Given the description of an element on the screen output the (x, y) to click on. 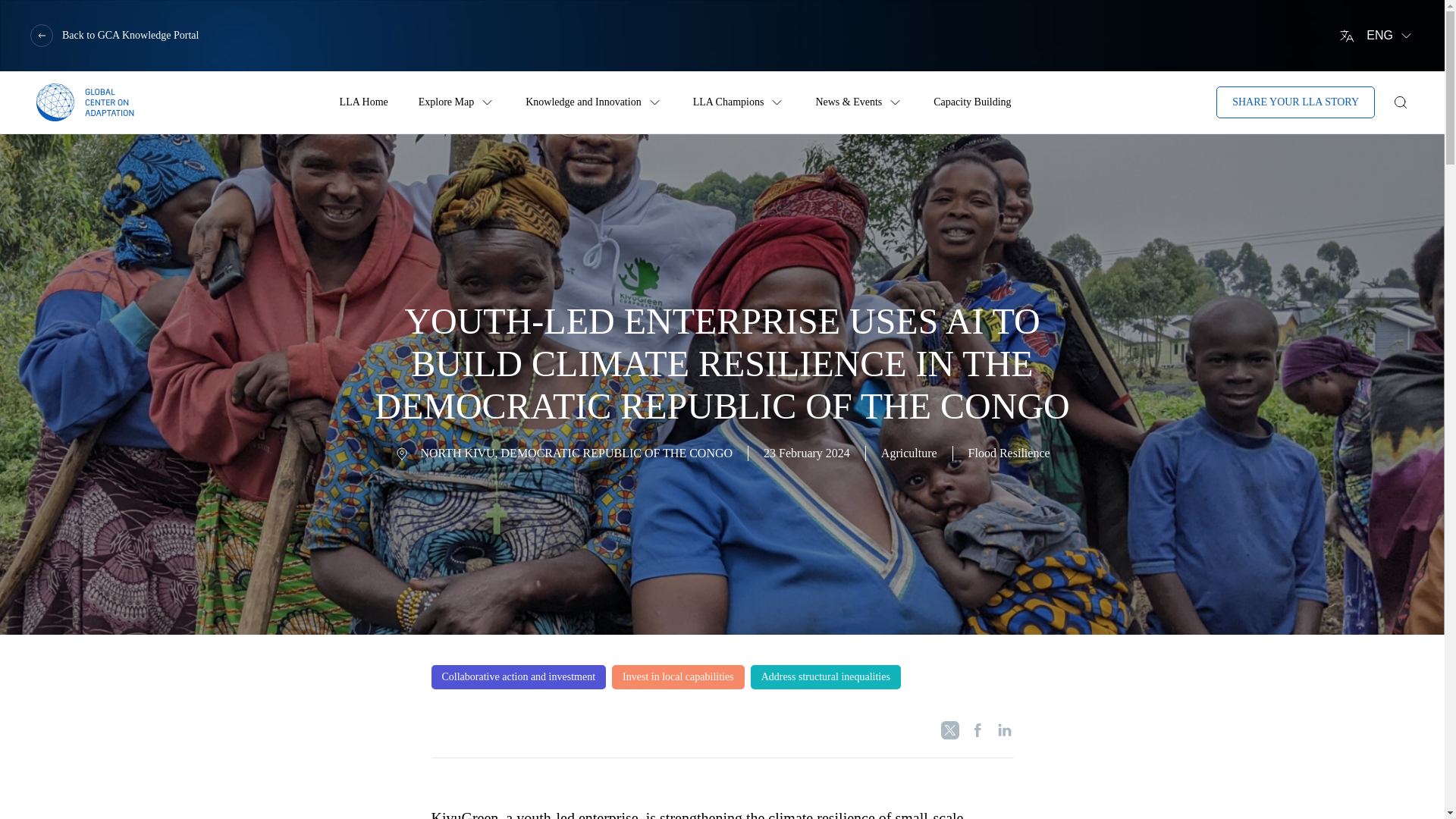
SHARE YOUR LLA STORY (1294, 101)
LLA Champions (728, 101)
Capacity Building (971, 101)
Collaborative action and investment (517, 677)
Knowledge and Innovation (582, 101)
Back to GCA Knowledge Portal (114, 35)
Address structural inequalities (826, 677)
Explore Map (446, 101)
LLA Home (363, 101)
Invest in local capabilities (677, 677)
